Given the description of an element on the screen output the (x, y) to click on. 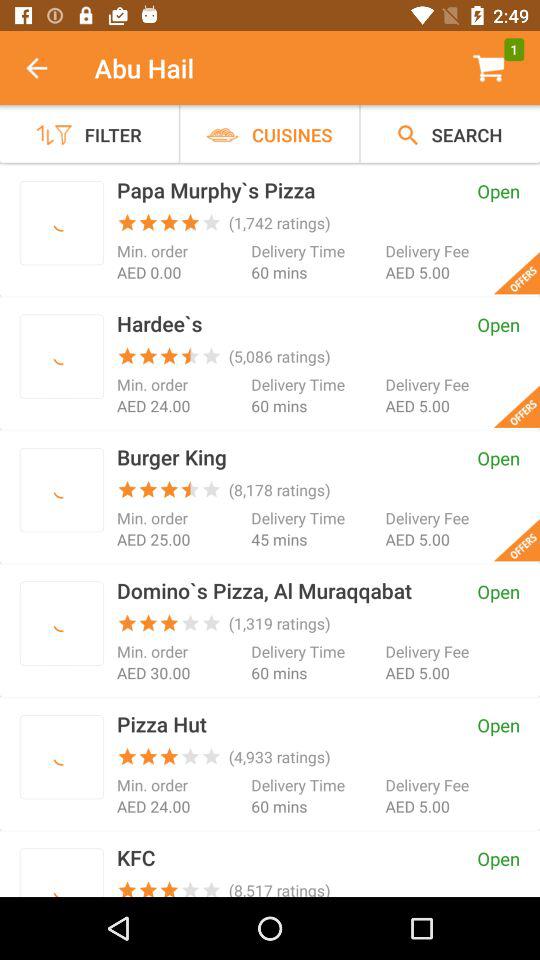
filter results (61, 756)
